Given the description of an element on the screen output the (x, y) to click on. 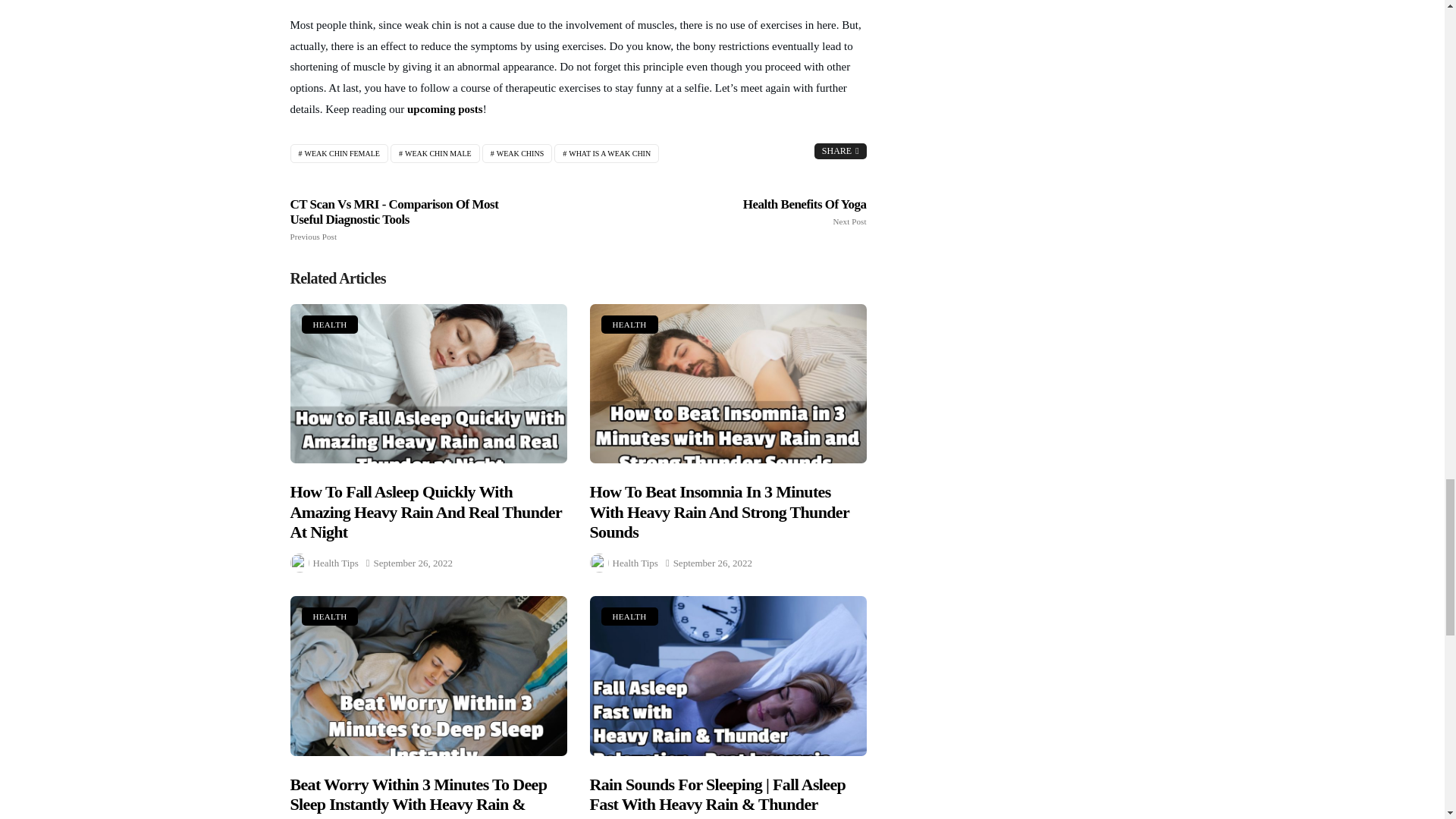
Posts by Health Tips (335, 562)
WHAT IS A WEAK CHIN (606, 153)
WEAK CHINS (517, 153)
WEAK CHIN MALE (751, 212)
HEALTH (435, 153)
WEAK CHIN FEMALE (629, 324)
upcoming posts (338, 153)
Posts by Health Tips (445, 109)
HEALTH (635, 562)
Health Tips (329, 324)
